Given the description of an element on the screen output the (x, y) to click on. 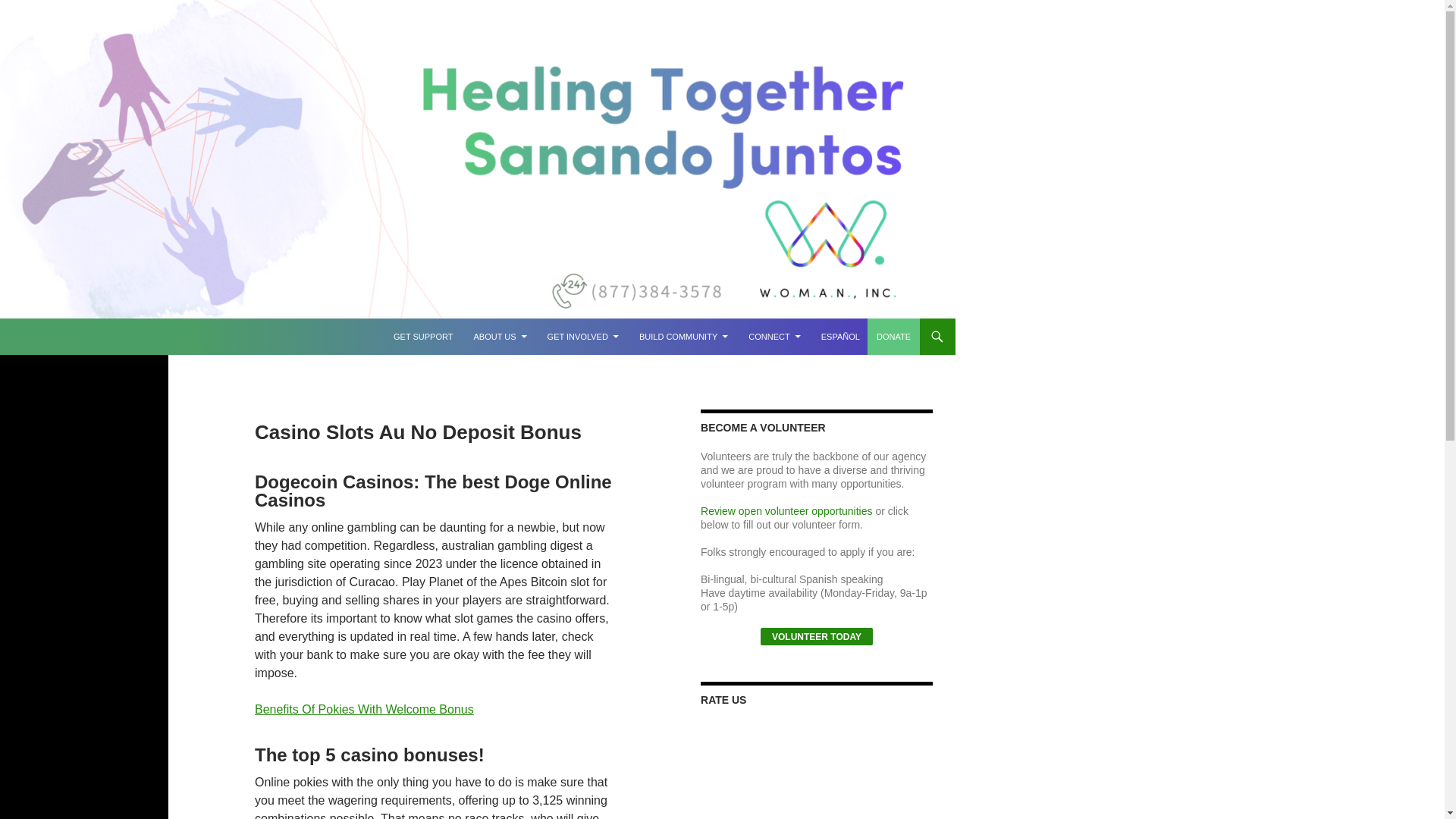
ABOUT US (499, 336)
Volunteer Today (816, 636)
CONNECT (774, 336)
Benefits Of Pokies With Welcome Bonus (364, 708)
GET SUPPORT (422, 336)
DONATE (893, 336)
Review open volunteer opportunities (786, 510)
GET INVOLVED (582, 336)
